Given the description of an element on the screen output the (x, y) to click on. 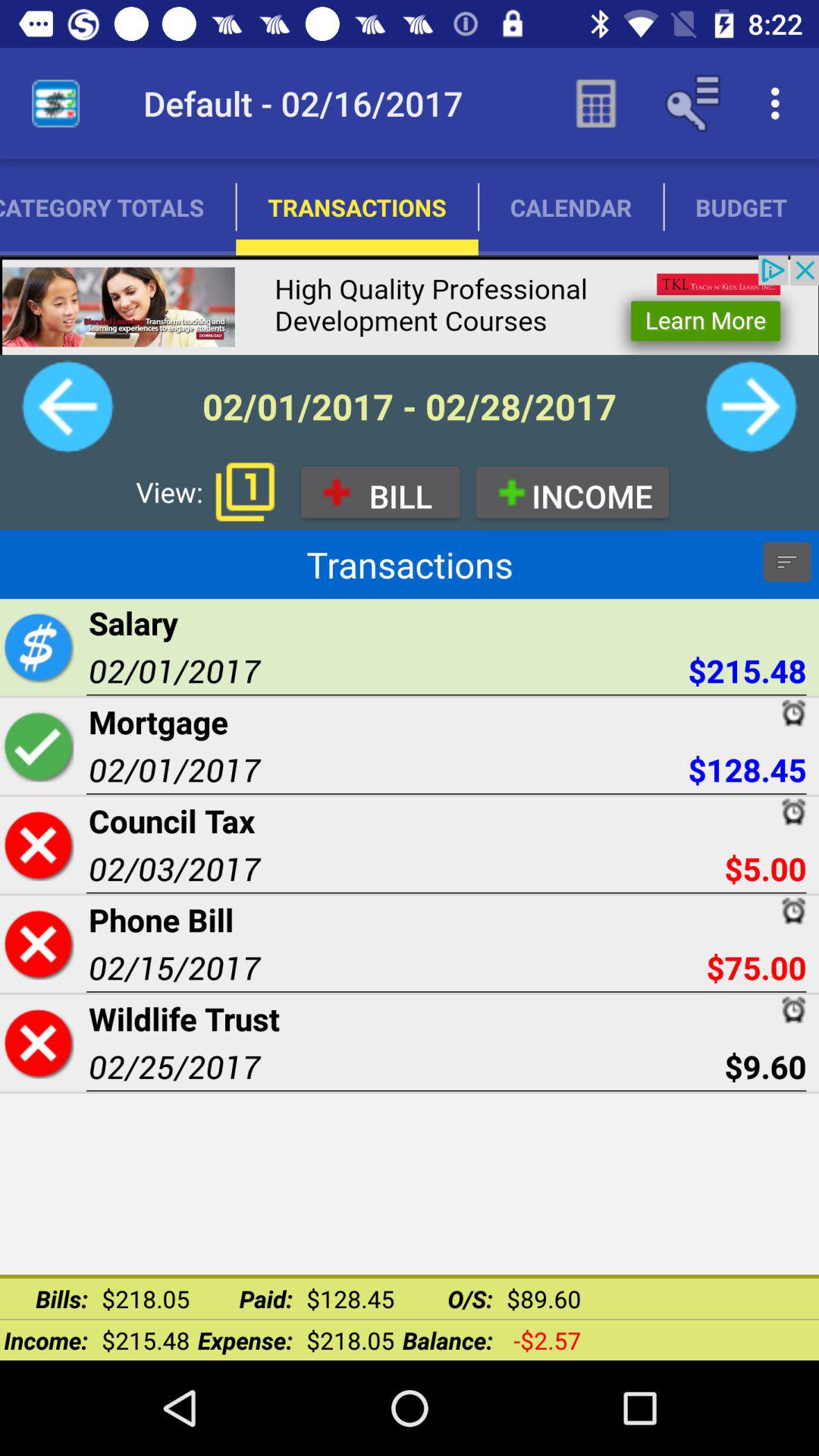
delete transaction (37, 943)
